Given the description of an element on the screen output the (x, y) to click on. 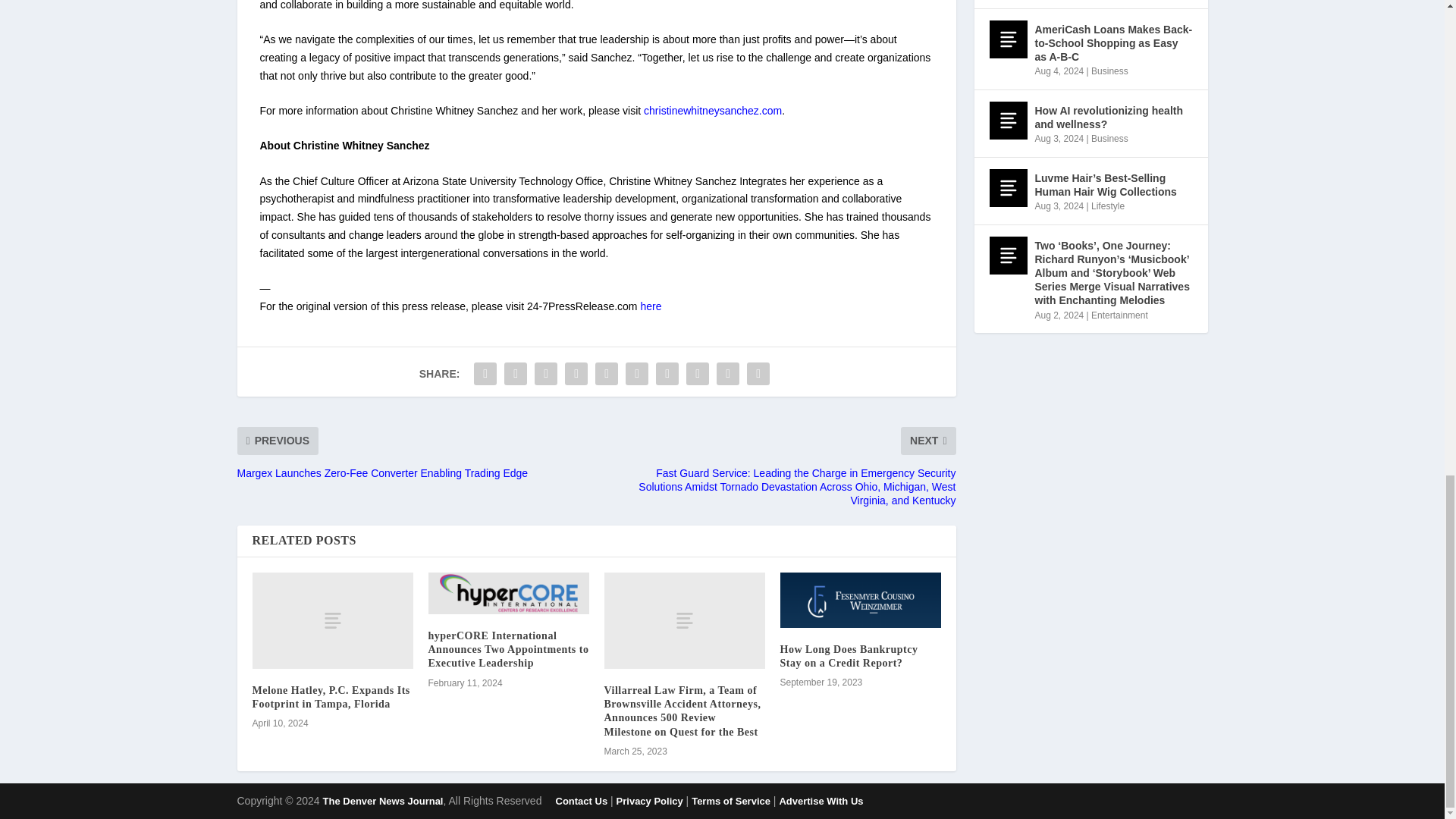
christinewhitneysanchez.com (712, 110)
Melone Hatley, P.C. Expands Its Footprint in Tampa, Florida (330, 697)
How Long Does Bankruptcy Stay on a Credit Report? (859, 600)
Melone Hatley, P.C. Expands Its Footprint in Tampa, Florida (331, 620)
